Given the description of an element on the screen output the (x, y) to click on. 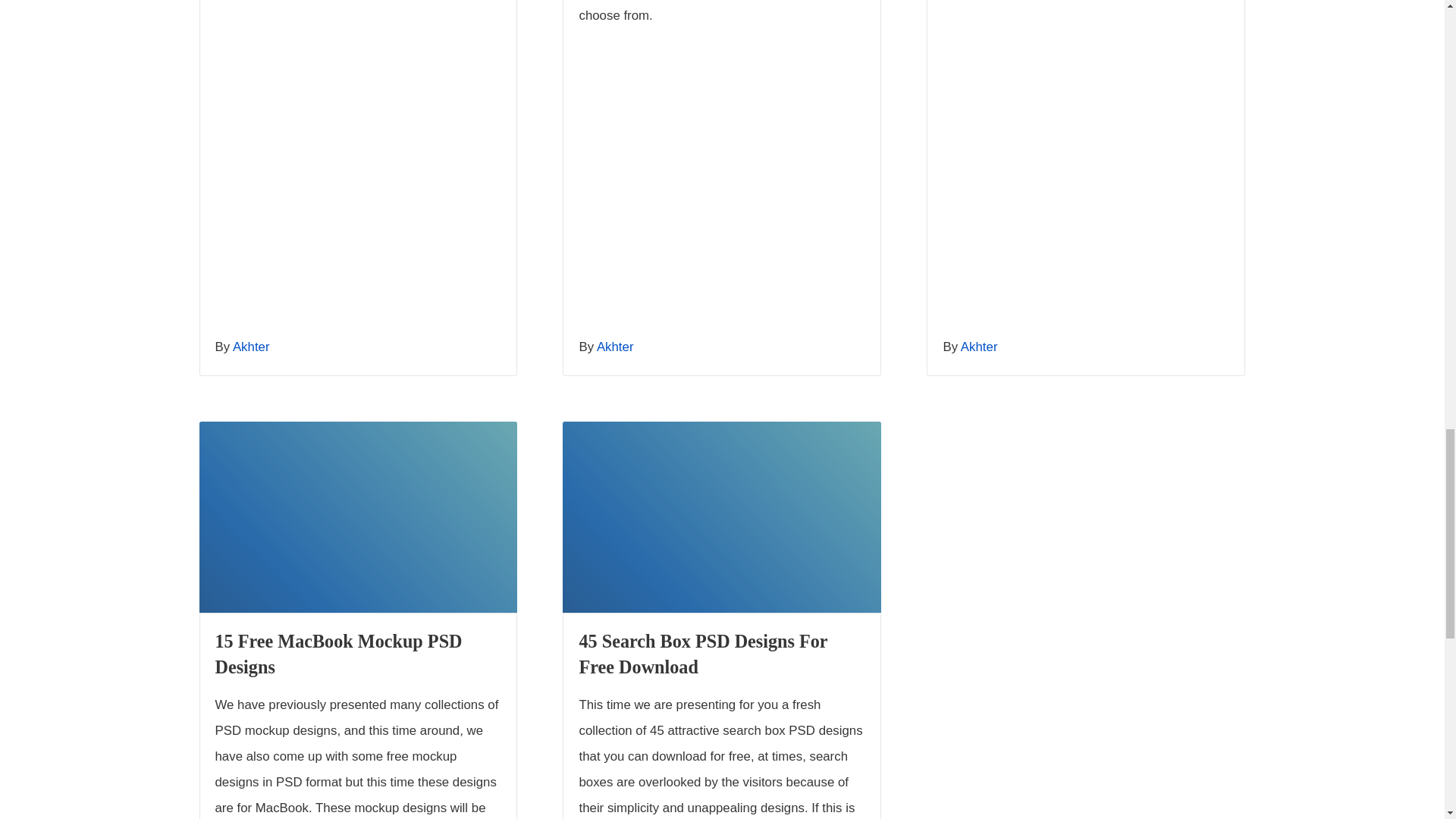
15 Free MacBook Mockup PSD Designs 110 (357, 516)
Akhter (614, 346)
45 Search Box PSD Designs For Free Download 111 (721, 516)
Akhter (250, 346)
